Given the description of an element on the screen output the (x, y) to click on. 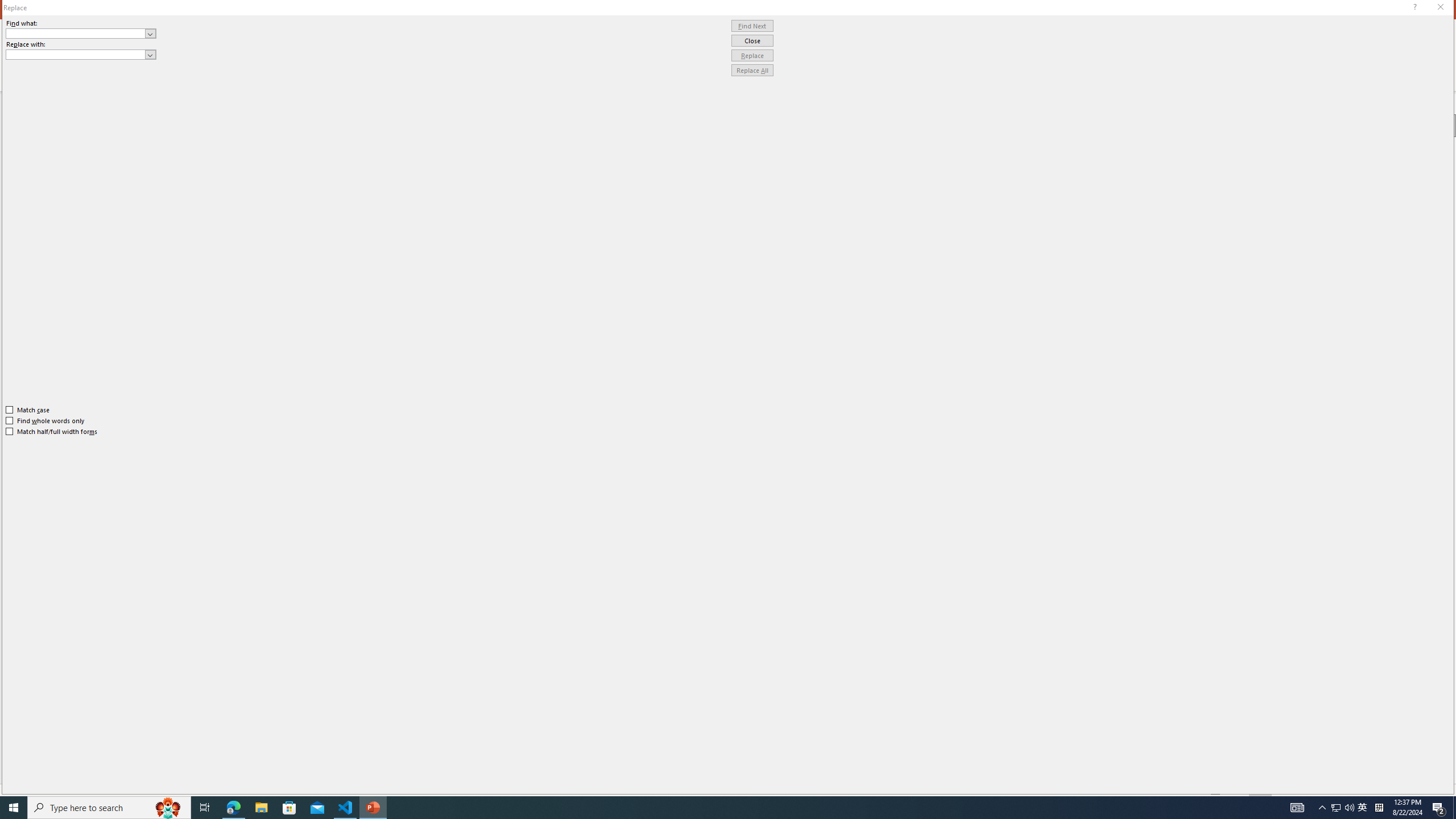
Find whole words only (45, 420)
Transparency (1388, 260)
Find what (80, 33)
